Given the description of an element on the screen output the (x, y) to click on. 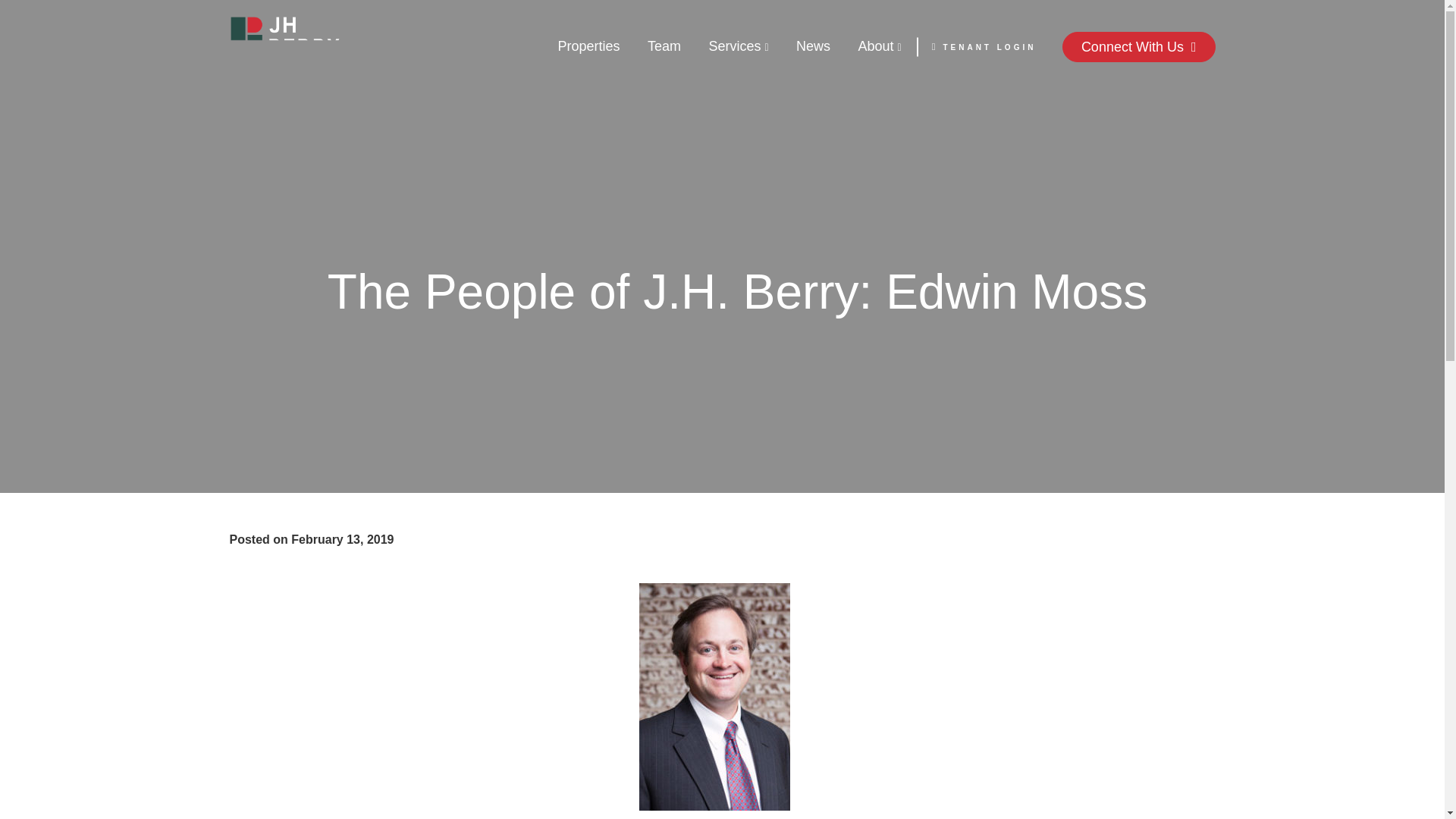
About (879, 53)
Search (776, 25)
News (813, 53)
TENANT LOGIN (983, 45)
Properties (587, 53)
Connect With Us (1138, 46)
Team (663, 53)
Services (737, 53)
